Given the description of an element on the screen output the (x, y) to click on. 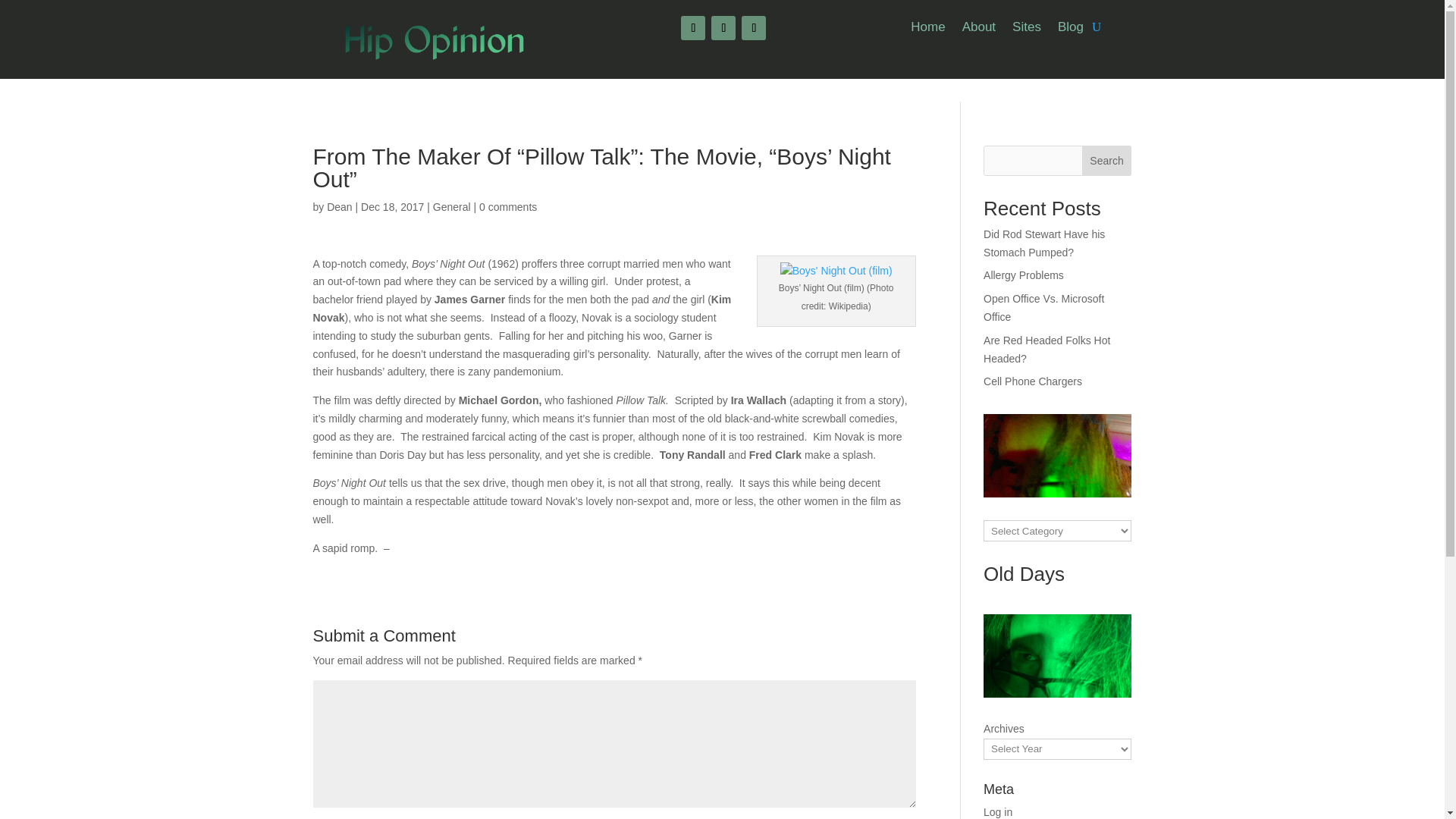
Search (1106, 160)
Follow on X (723, 27)
Log in (997, 811)
Did Rod Stewart Have his Stomach Pumped? (1044, 243)
Posts by Dean (339, 206)
Follow on LinkedIn (753, 27)
Open Office Vs. Microsoft Office (1043, 307)
General (451, 206)
Grelogo (433, 40)
Home (927, 30)
